Given the description of an element on the screen output the (x, y) to click on. 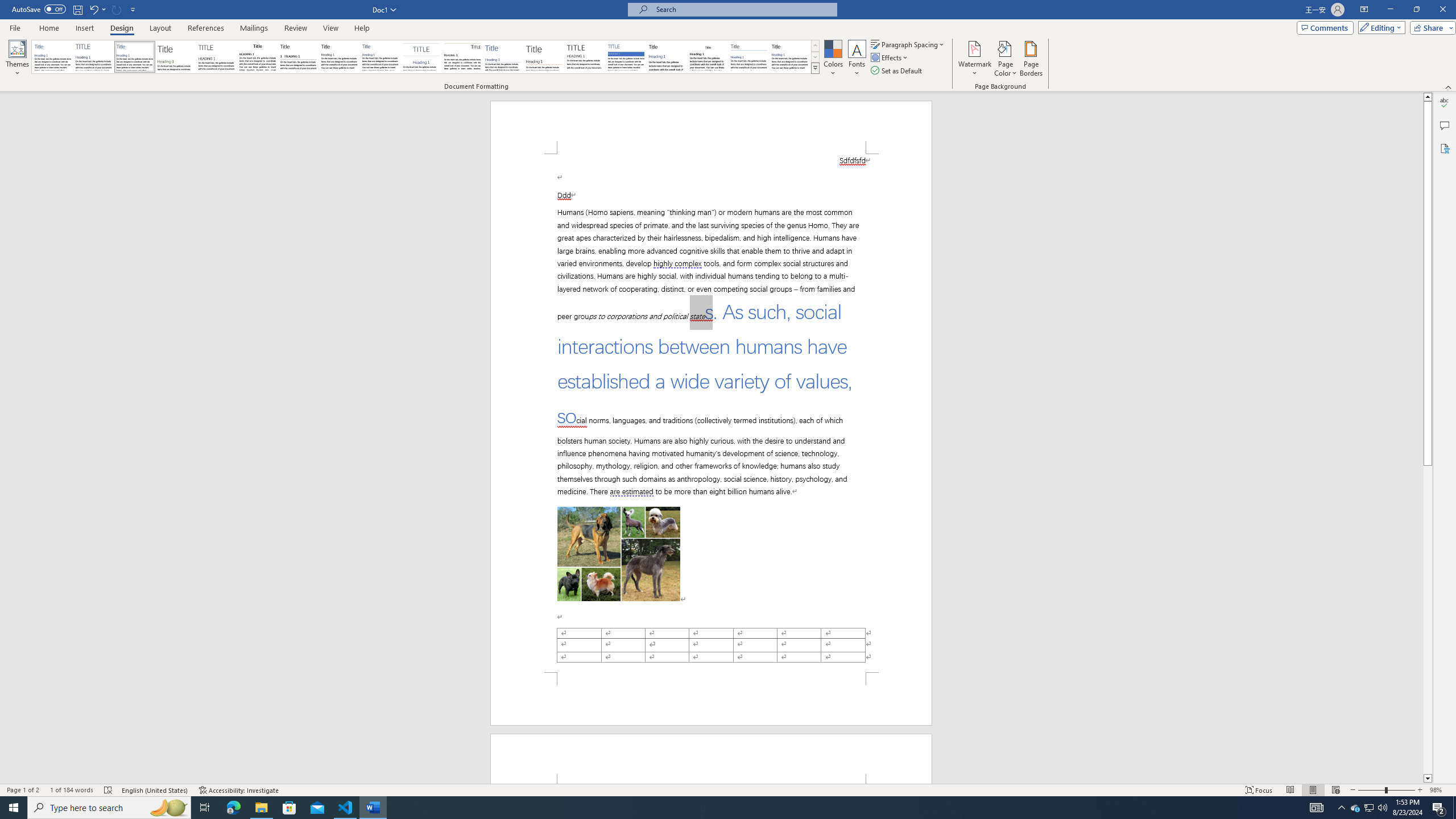
Colors (832, 58)
Word (666, 56)
Word 2003 (707, 56)
Undo Apply Quick Style Set (96, 9)
Minimalist (584, 56)
Lines (Stylish) (544, 56)
Black & White (Capitalized) (216, 56)
